Given the description of an element on the screen output the (x, y) to click on. 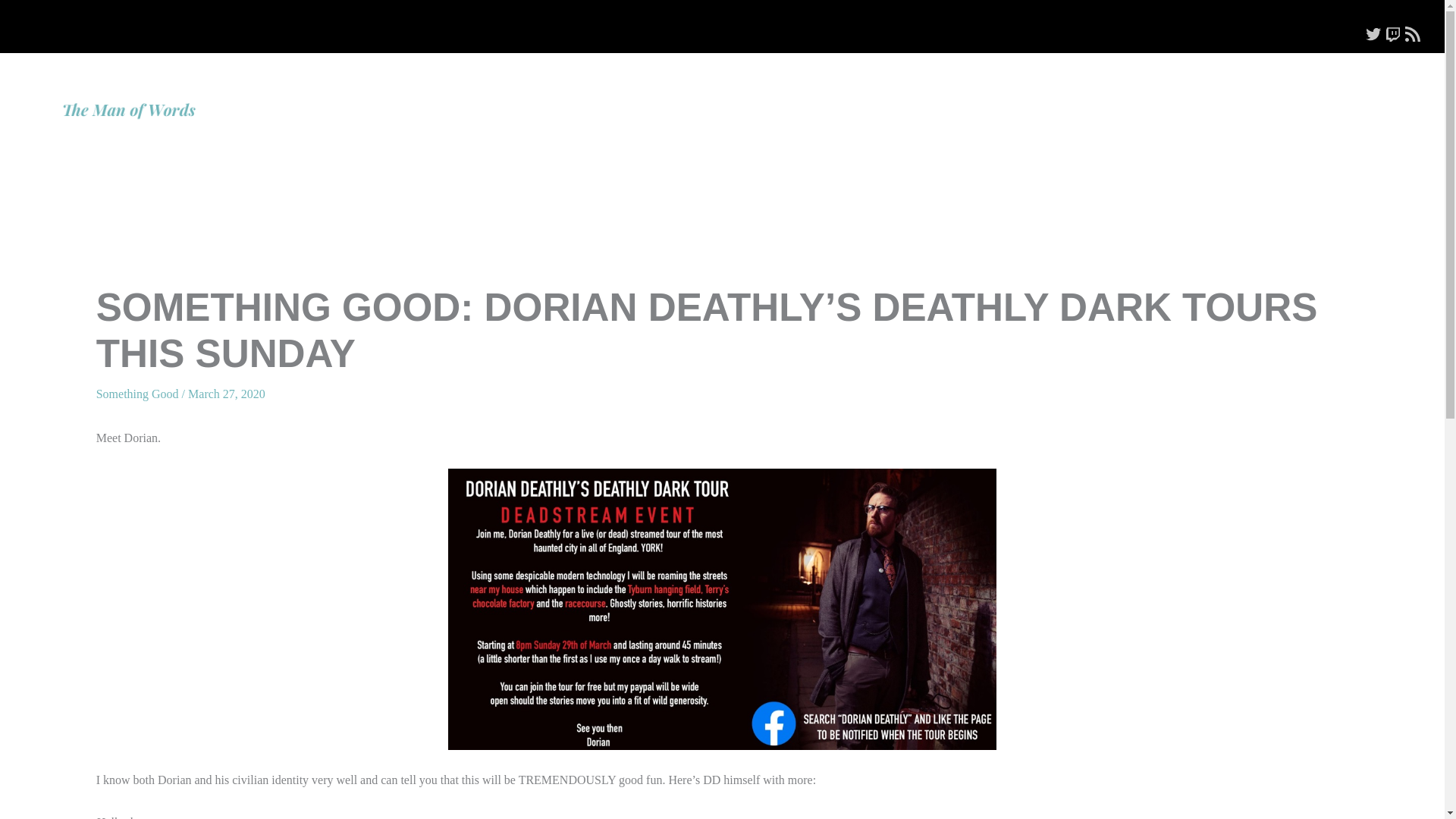
HOME (884, 98)
SUPPORT ME (1382, 98)
Something Good (137, 393)
VOICE WORK (1041, 98)
Twitter (1372, 34)
CONTACT (1299, 98)
Twitch (1393, 34)
WRITING (953, 98)
OTHER WORK (1136, 98)
PRESS KIT (1224, 98)
